Given the description of an element on the screen output the (x, y) to click on. 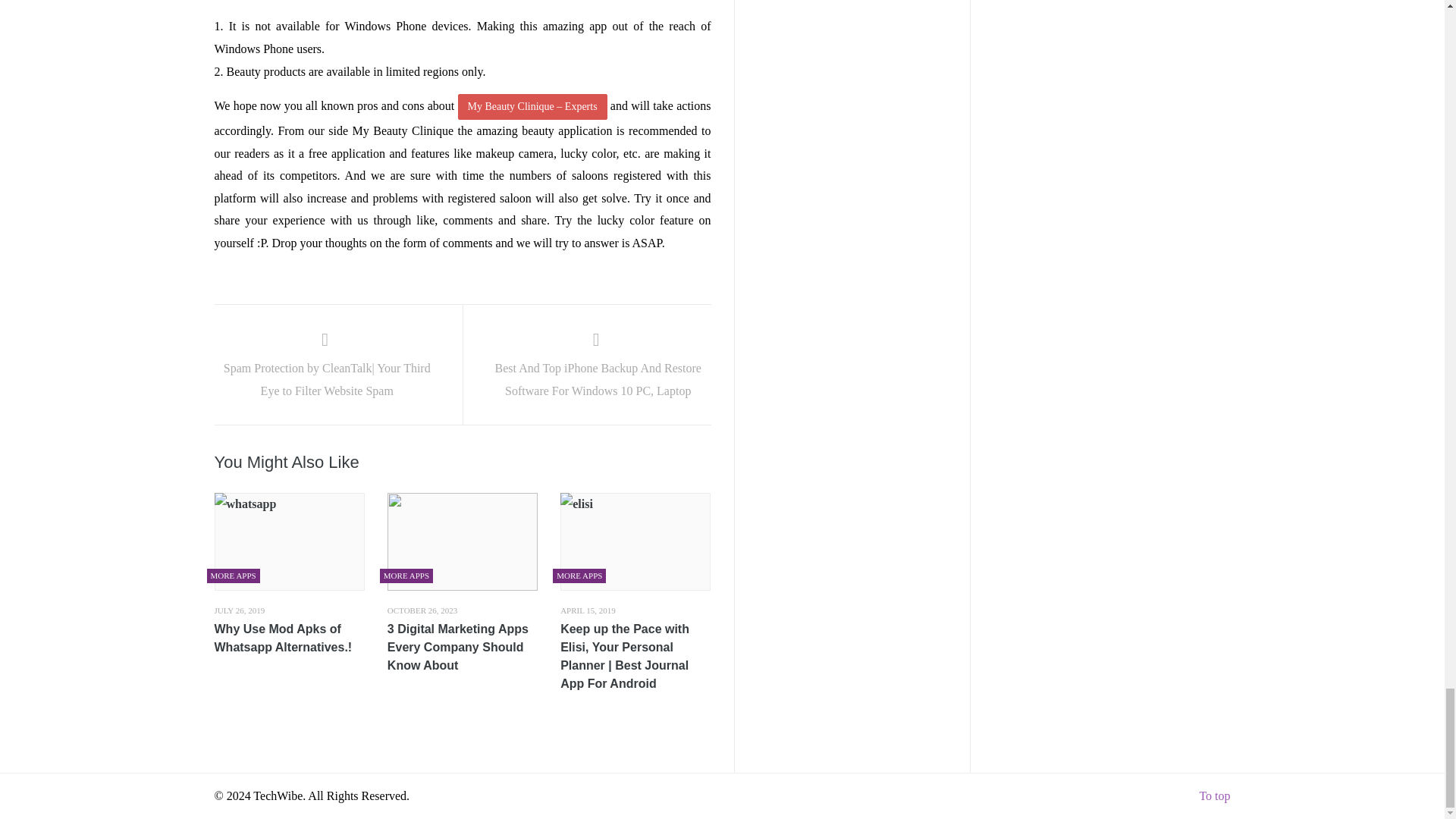
Why Use Mod Apks of Whatsapp Alternatives.! (289, 637)
